Given the description of an element on the screen output the (x, y) to click on. 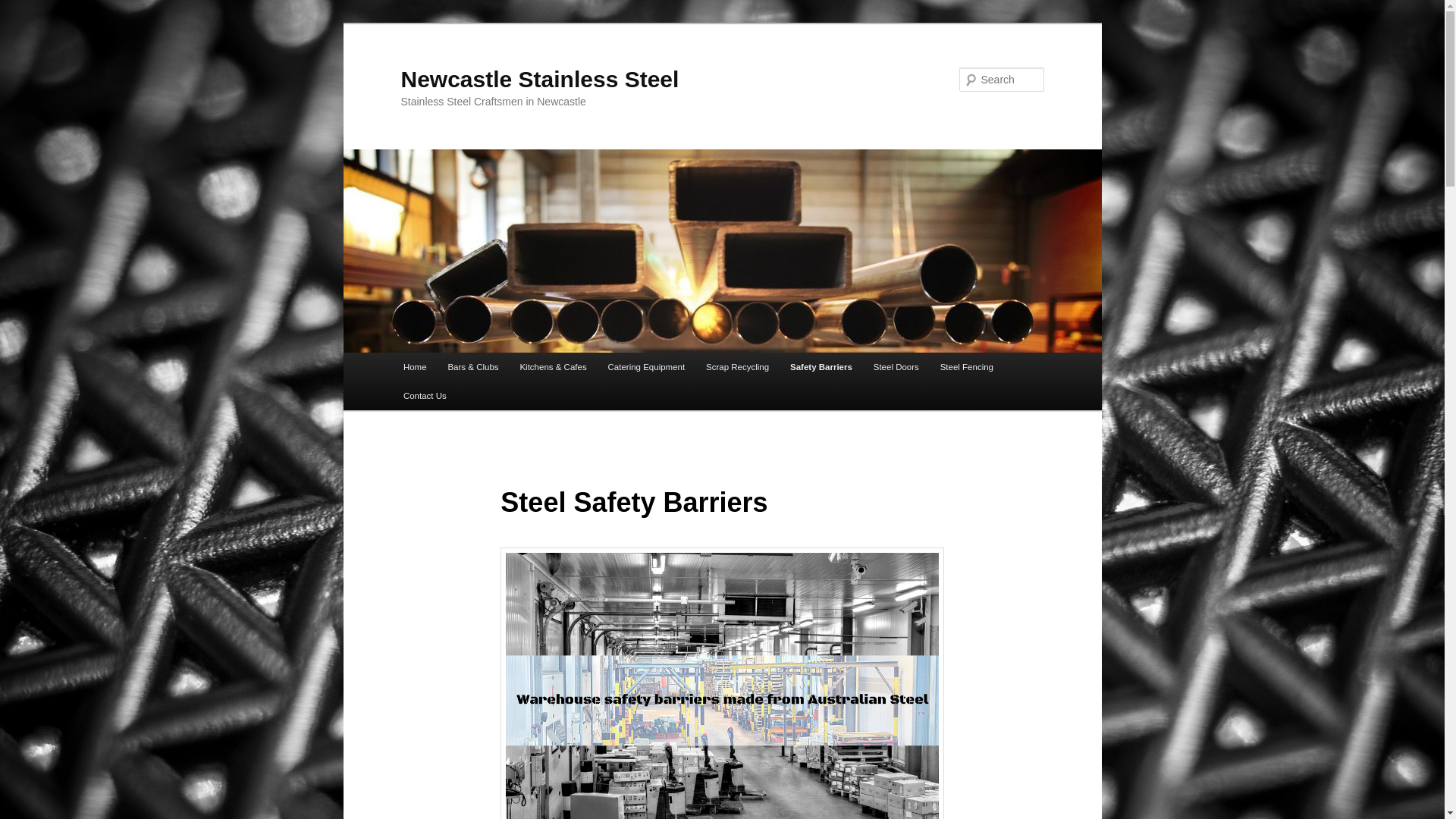
Home Element type: text (414, 366)
Safety Barriers Element type: text (820, 366)
Skip to primary content Element type: text (22, 22)
Catering Equipment Element type: text (646, 366)
Newcastle Stainless Steel Element type: text (539, 78)
Contact Us Element type: text (424, 395)
Kitchens & Cafes Element type: text (552, 366)
Search Element type: text (24, 8)
Scrap Recycling Element type: text (737, 366)
Bars & Clubs Element type: text (472, 366)
Steel Doors Element type: text (895, 366)
Steel Fencing Element type: text (966, 366)
